Given the description of an element on the screen output the (x, y) to click on. 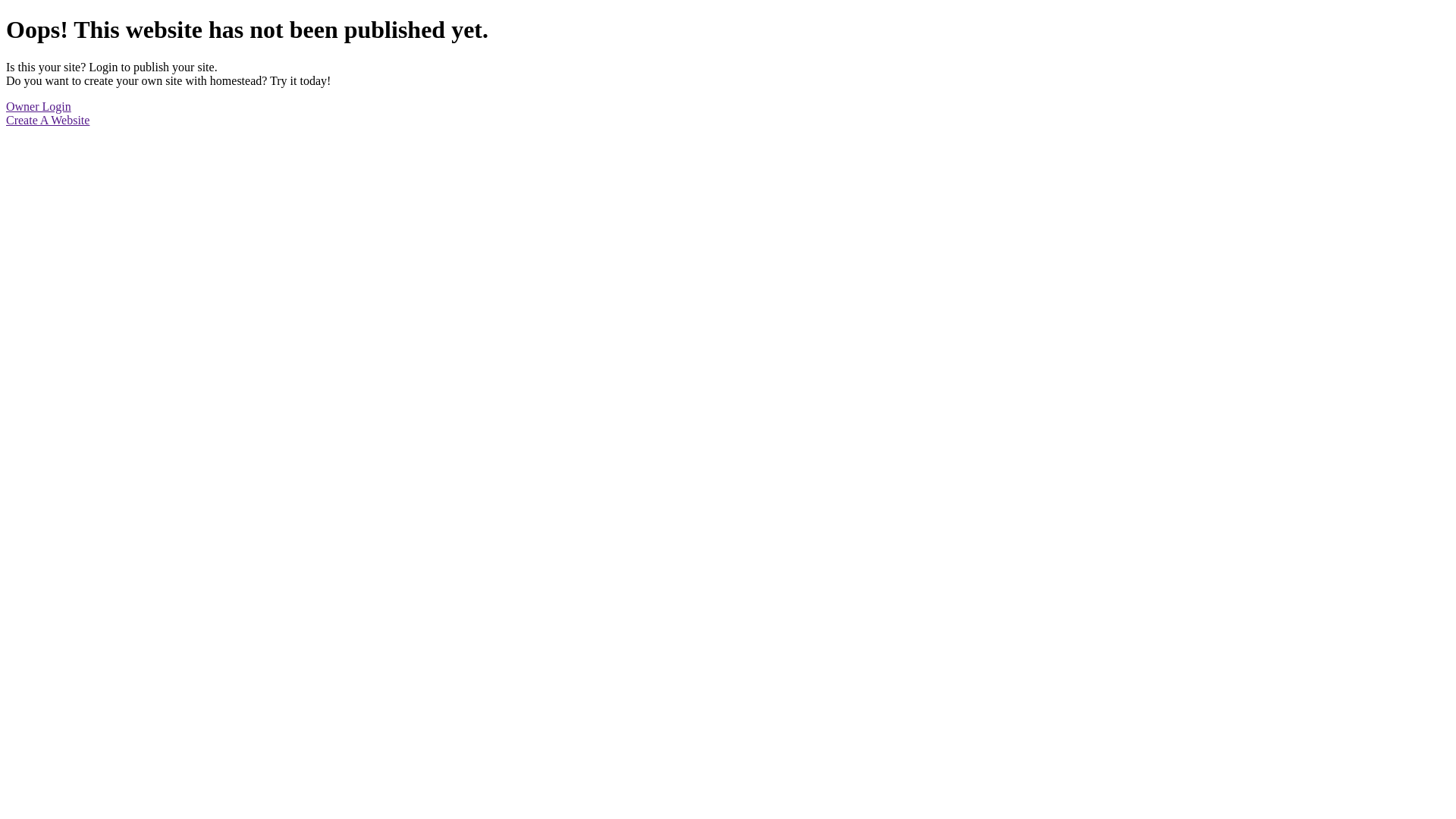
Owner Login Element type: text (38, 106)
Create A Website Element type: text (47, 119)
